Given the description of an element on the screen output the (x, y) to click on. 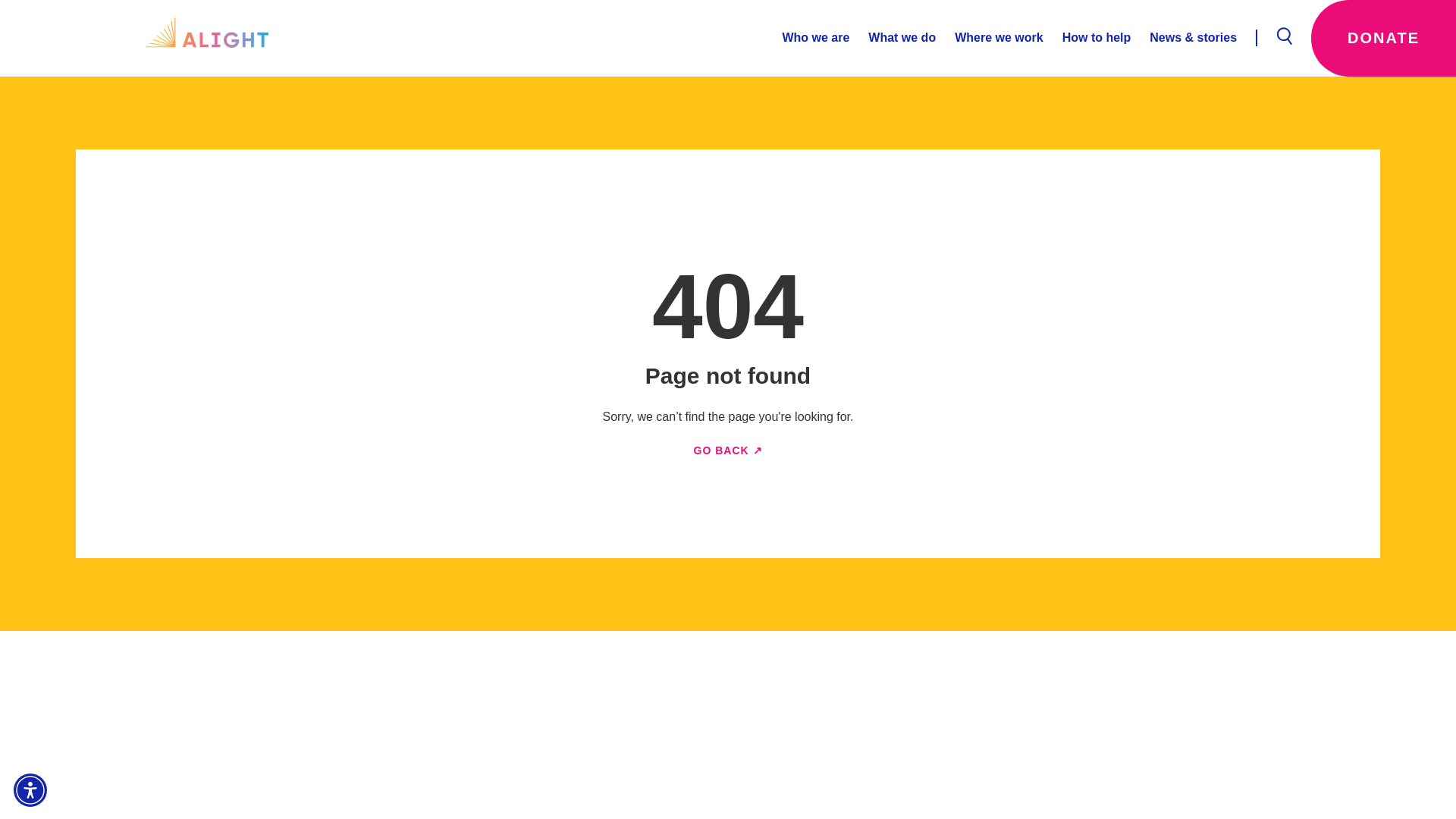
Accessibility Menu (29, 789)
Who we are (814, 37)
Where we work (989, 37)
What we do (892, 37)
